Given the description of an element on the screen output the (x, y) to click on. 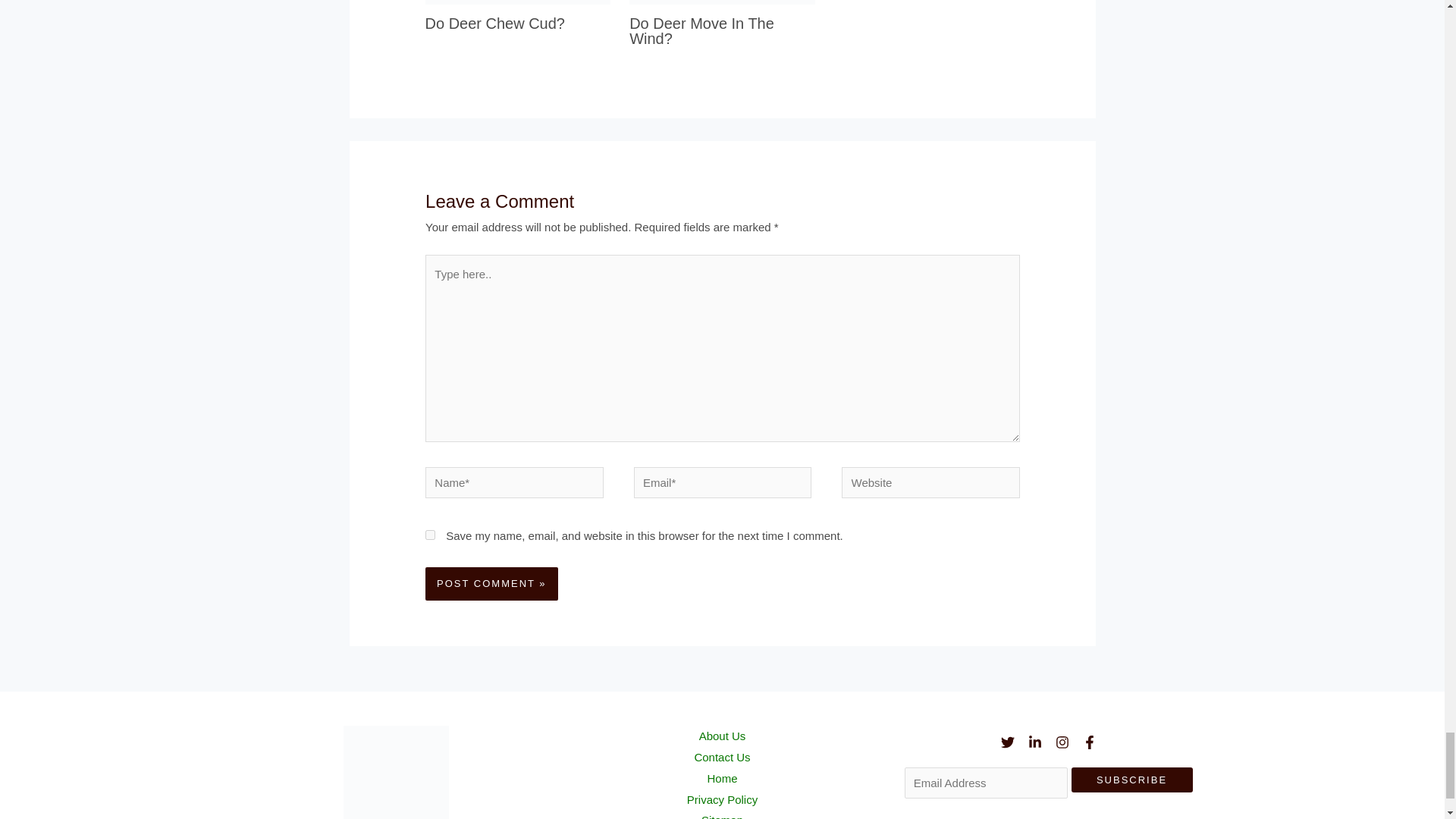
Do Deer Chew Cud? 10 (518, 2)
yes (430, 535)
